Given the description of an element on the screen output the (x, y) to click on. 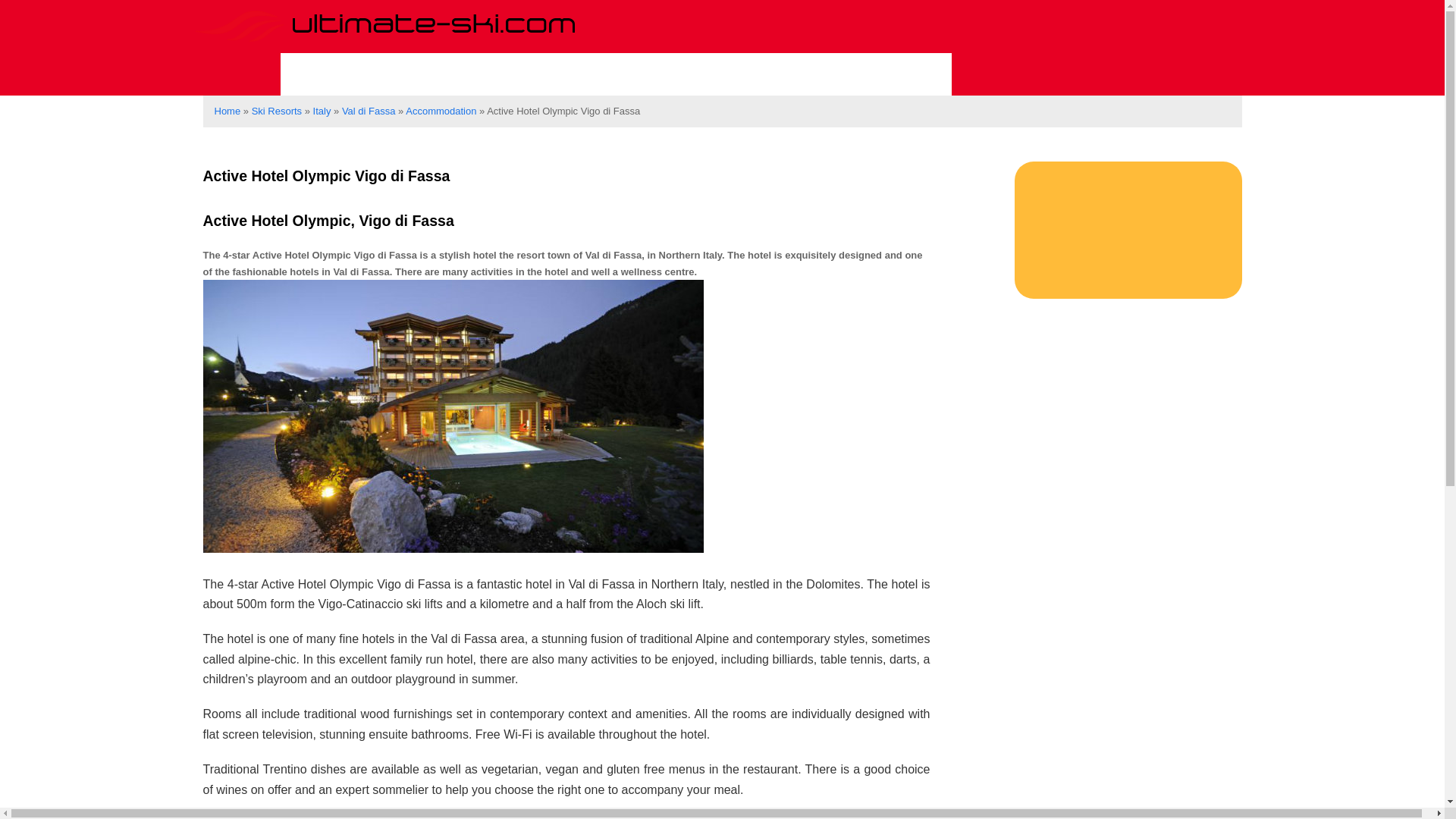
Ski Resorts (276, 111)
Val di Fassa (369, 111)
Accommodation (441, 111)
Ski Resorts (351, 74)
Ski Rental (615, 74)
Italy (322, 111)
Accommodation (867, 74)
Features (729, 74)
Ski Lessons (489, 74)
Home (227, 111)
